Given the description of an element on the screen output the (x, y) to click on. 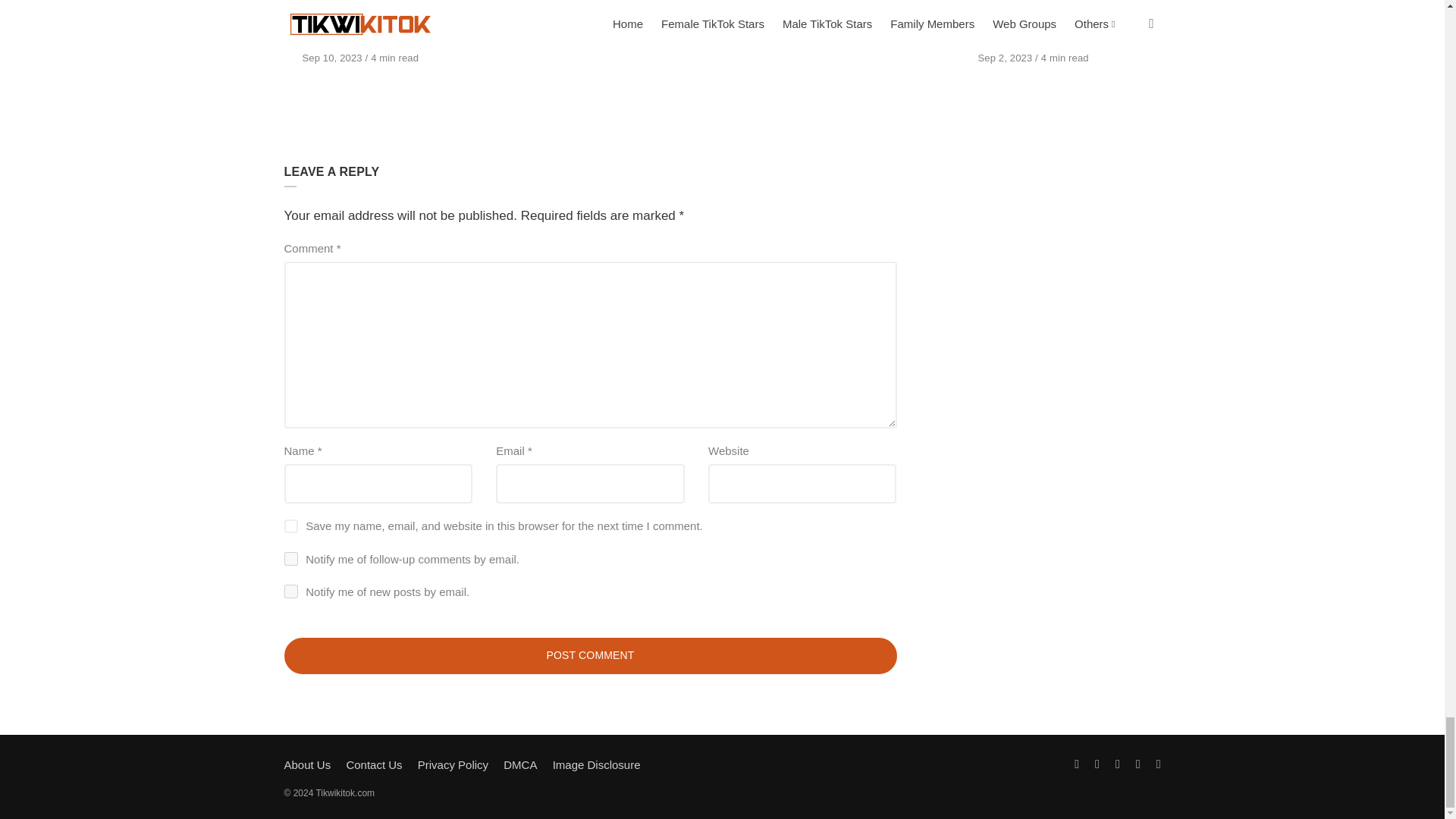
yes (290, 526)
subscribe (290, 591)
subscribe (290, 558)
Post Comment (589, 656)
